Given the description of an element on the screen output the (x, y) to click on. 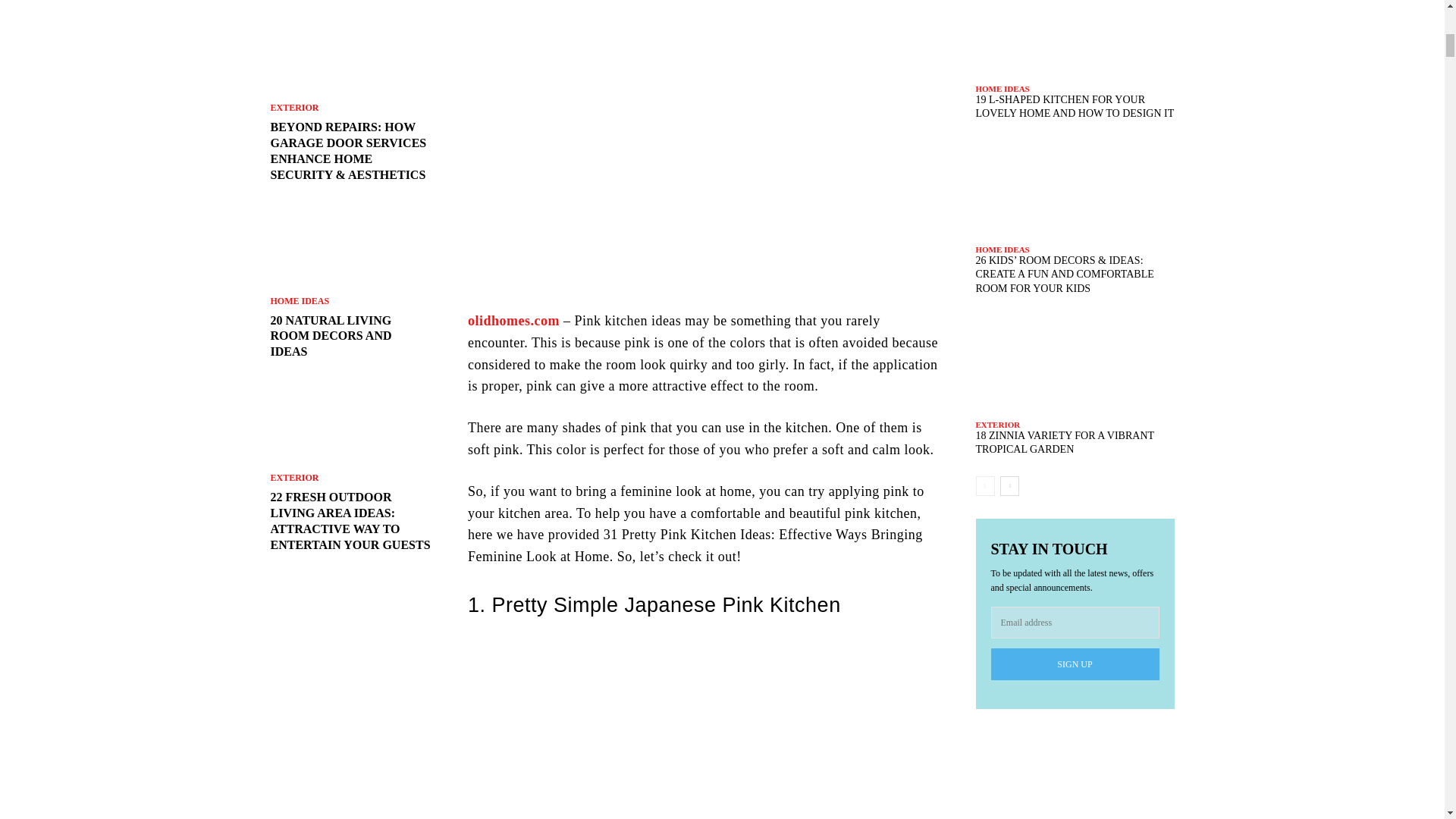
20 NATURAL LIVING ROOM DECORS AND IDEAS (330, 335)
HOME IDEAS (299, 300)
20 Natural Living Room Decors and Ideas (330, 335)
20 Natural Living Room Decors and Ideas (349, 245)
EXTERIOR (293, 107)
